Given the description of an element on the screen output the (x, y) to click on. 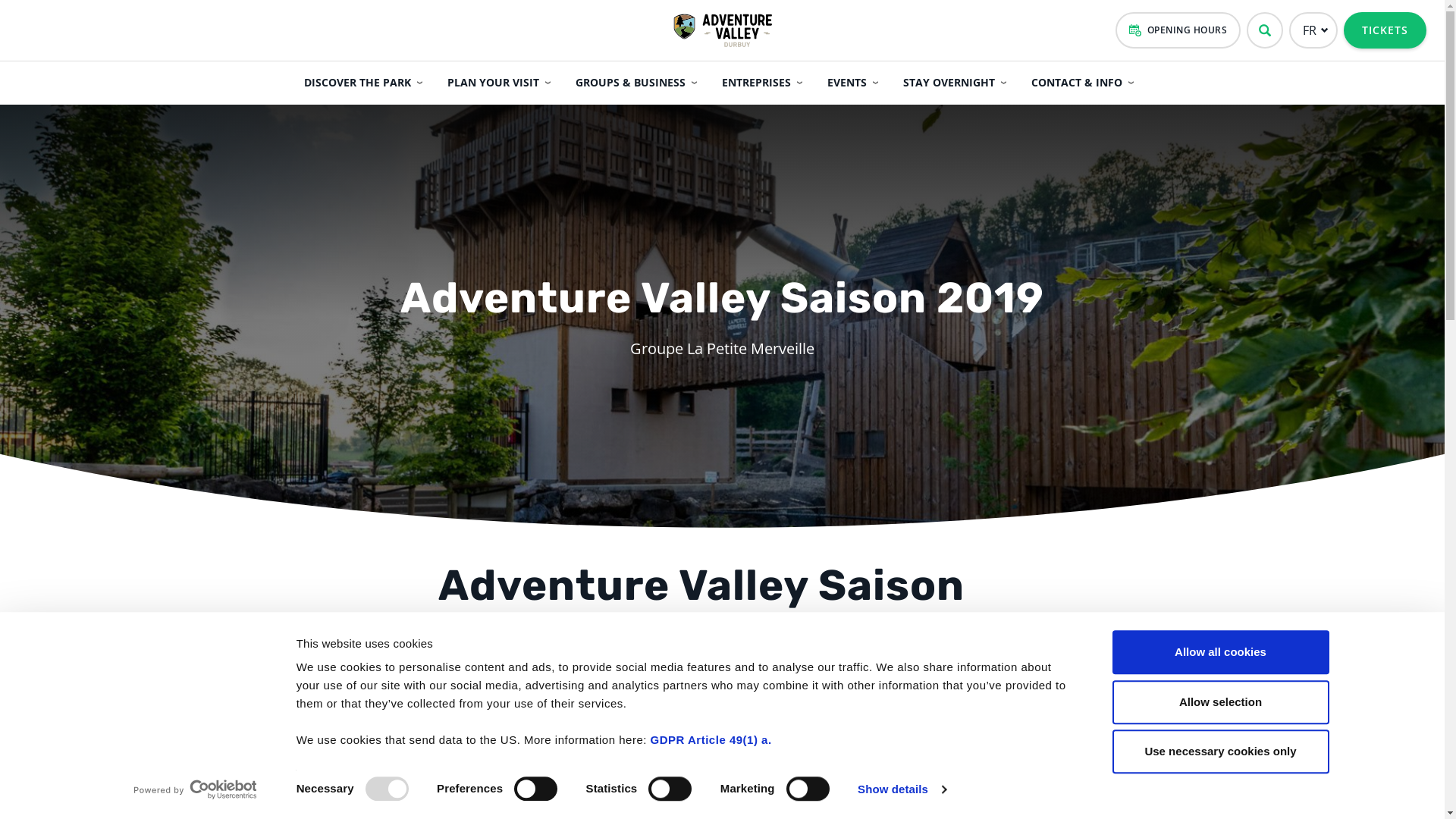
SEARCH Element type: text (1264, 30)
CONTACT & INFO Element type: text (1085, 82)
Skip to main content Element type: text (0, 0)
Use necessary cookies only Element type: text (1219, 751)
DISCOVER THE PARK Element type: text (366, 82)
TICKETS Element type: text (1384, 30)
GROUPS & BUSINESS Element type: text (639, 82)
EVENTS Element type: text (855, 82)
PLAN YOUR VISIT Element type: text (502, 82)
OPENING HOURS Element type: text (1177, 30)
STAY OVERNIGHT Element type: text (958, 82)
Show details Element type: text (901, 789)
Allow selection Element type: text (1219, 702)
Allow all cookies Element type: text (1219, 652)
GDPR Article 49(1) a. Element type: text (710, 739)
ENTREPRISES Element type: text (765, 82)
